Given the description of an element on the screen output the (x, y) to click on. 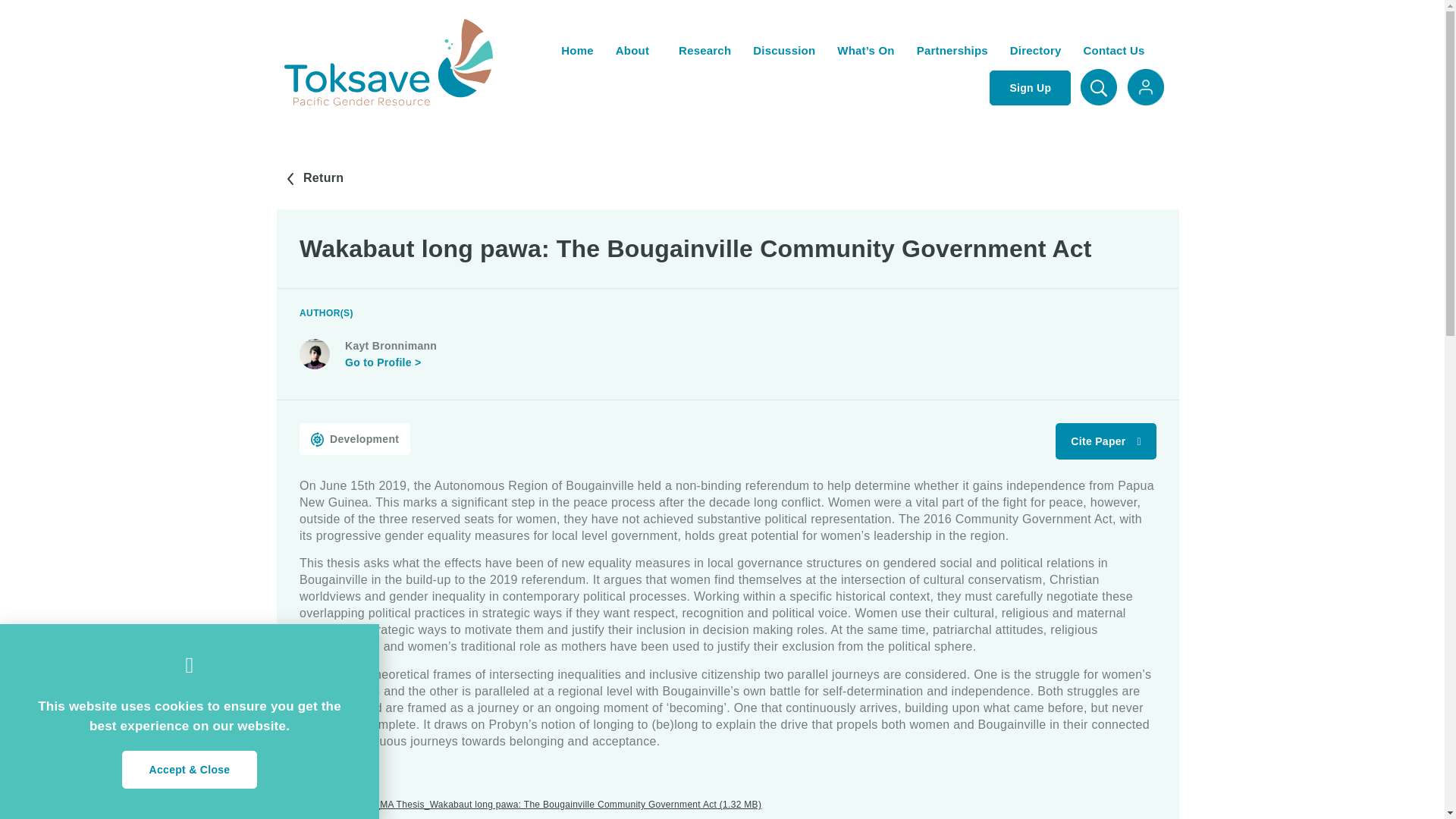
Home (576, 50)
Sign Up (1030, 87)
About (635, 50)
Cite Paper (1105, 441)
Contact Us (1113, 50)
Return (313, 178)
Kayt Bronnimann (390, 353)
Discussion (783, 50)
Partnerships (952, 50)
Directory (1035, 50)
Research (704, 50)
